Given the description of an element on the screen output the (x, y) to click on. 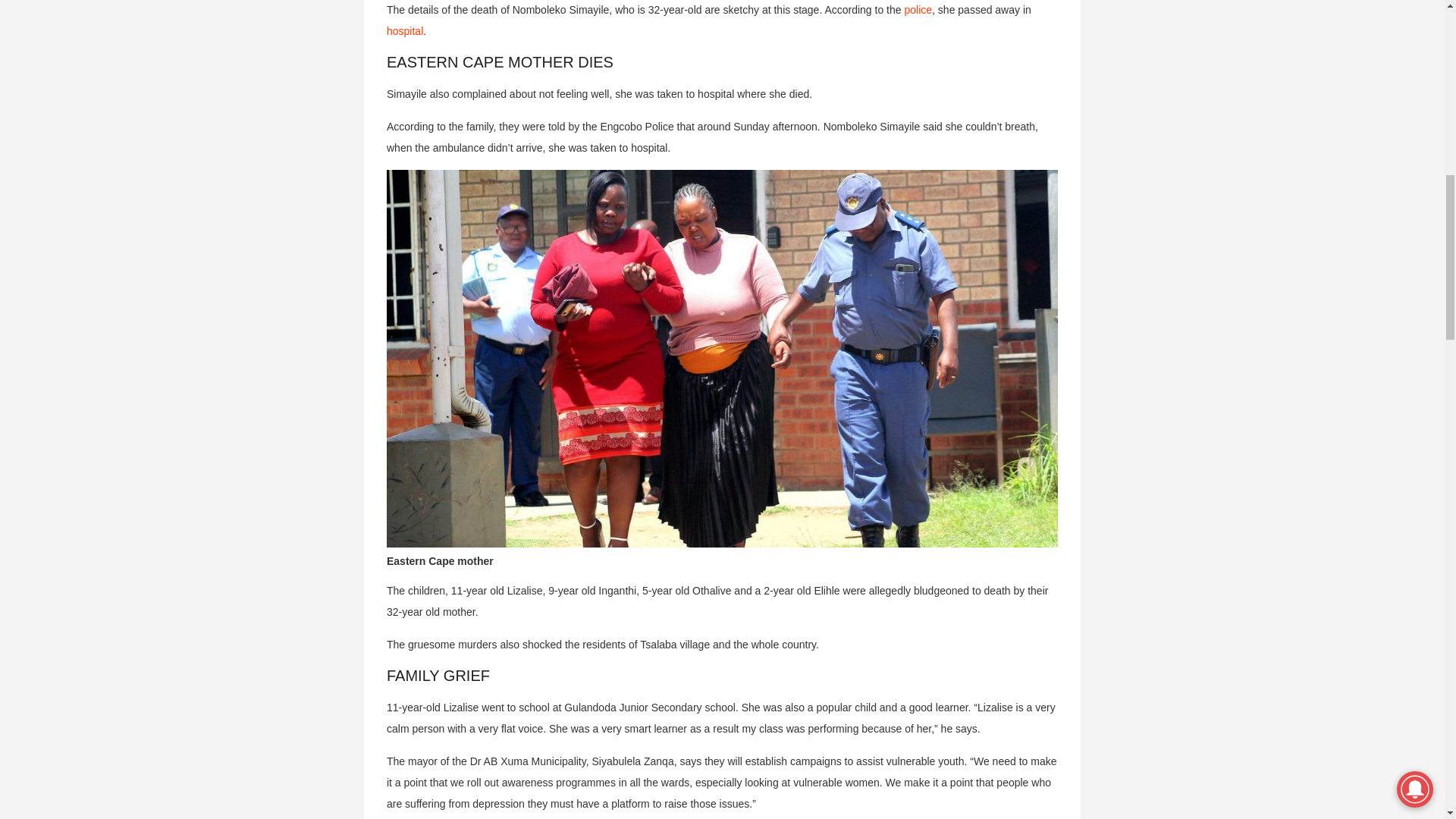
police (917, 9)
hospital (405, 30)
